Given the description of an element on the screen output the (x, y) to click on. 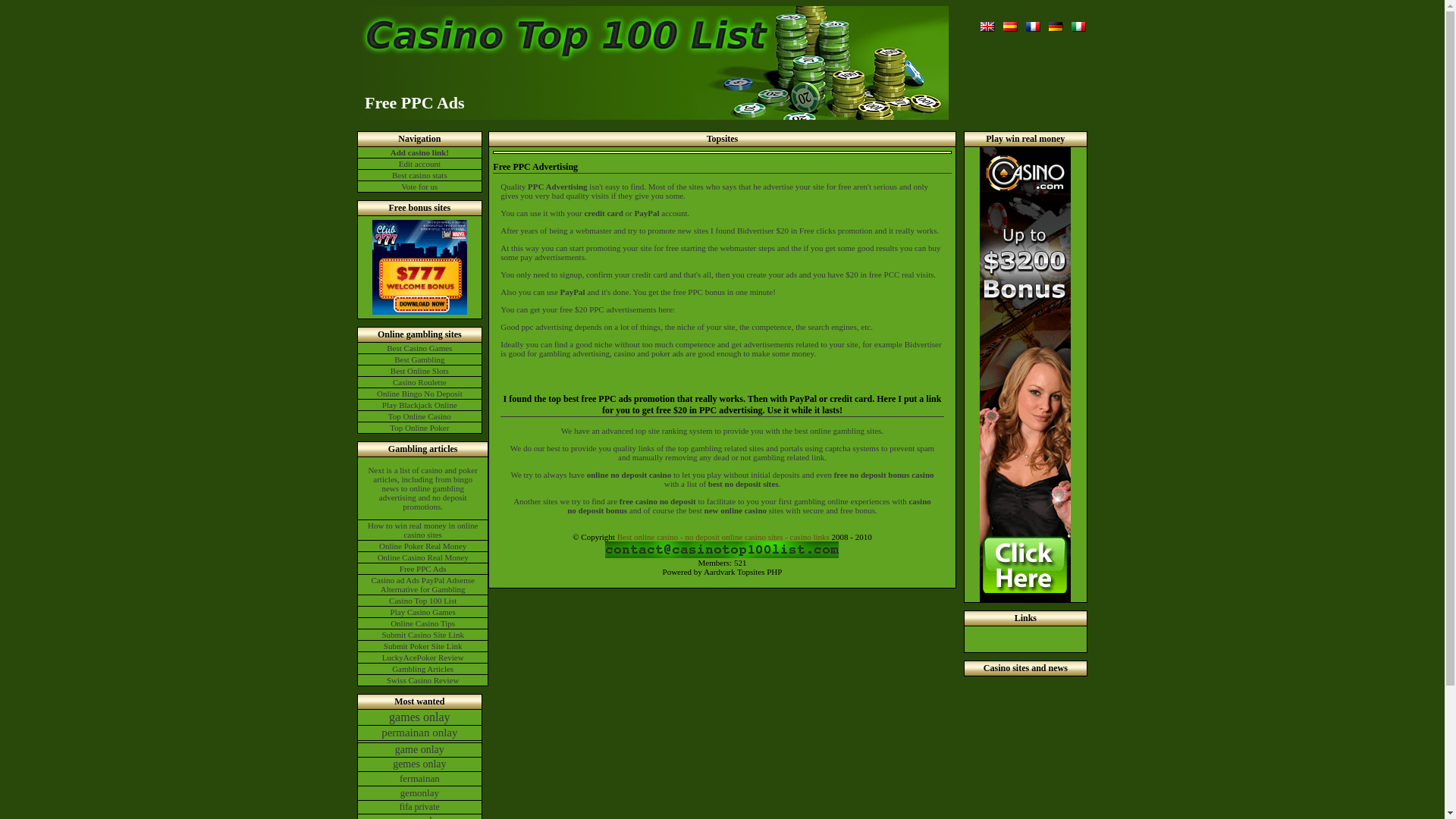
gems onlay (419, 816)
Swiss Casino Review (422, 679)
gemonlay (419, 793)
fermainan (419, 778)
Online Casino Real Money (422, 557)
Best Gambling (419, 358)
Play Blackjack Online (419, 404)
fifa private (419, 807)
Edit account (419, 163)
How to win real money in online casino sites (422, 529)
